Given the description of an element on the screen output the (x, y) to click on. 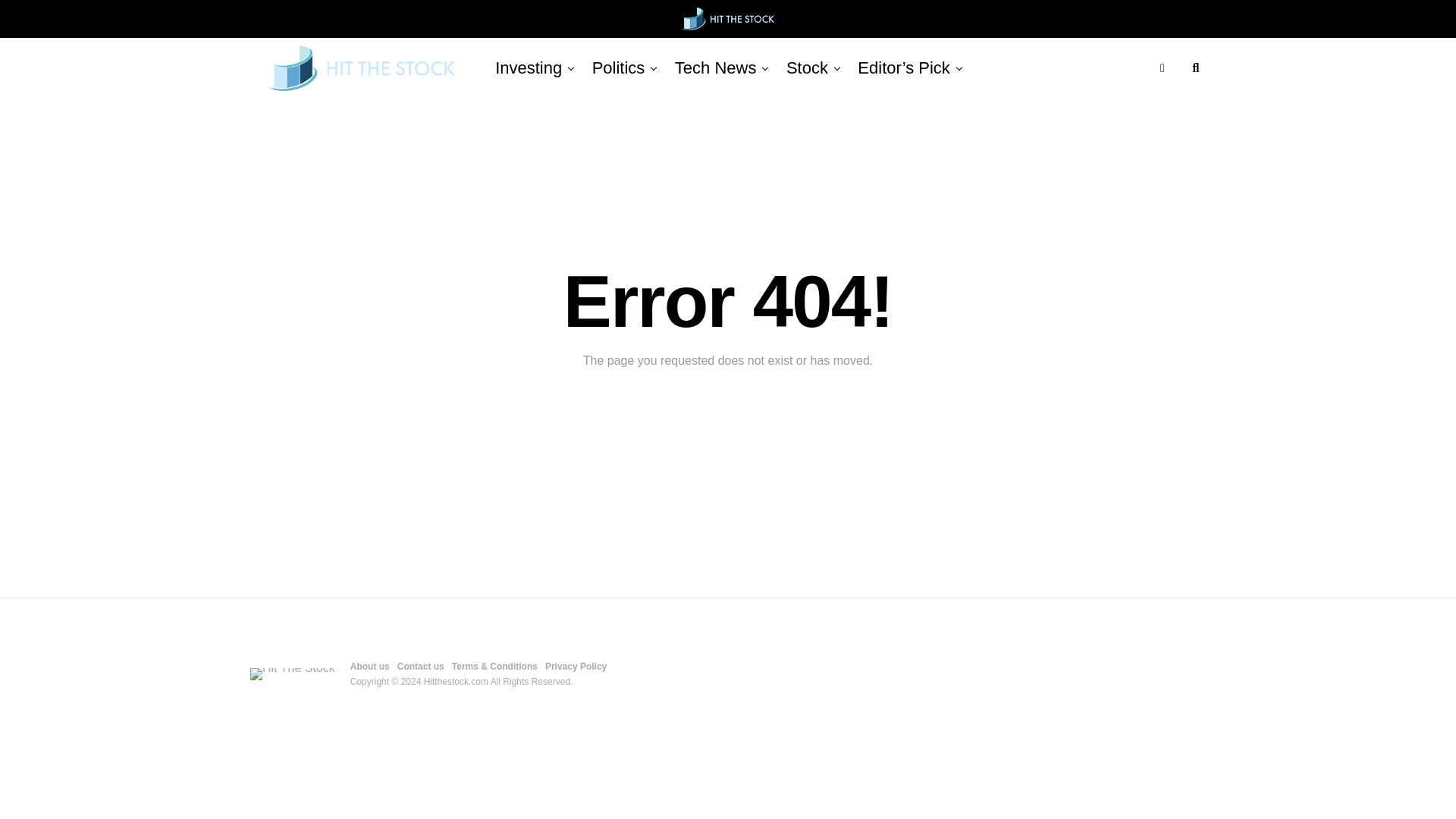
Tech News (715, 67)
Investing (528, 67)
Stock (806, 67)
Politics (618, 67)
